Given the description of an element on the screen output the (x, y) to click on. 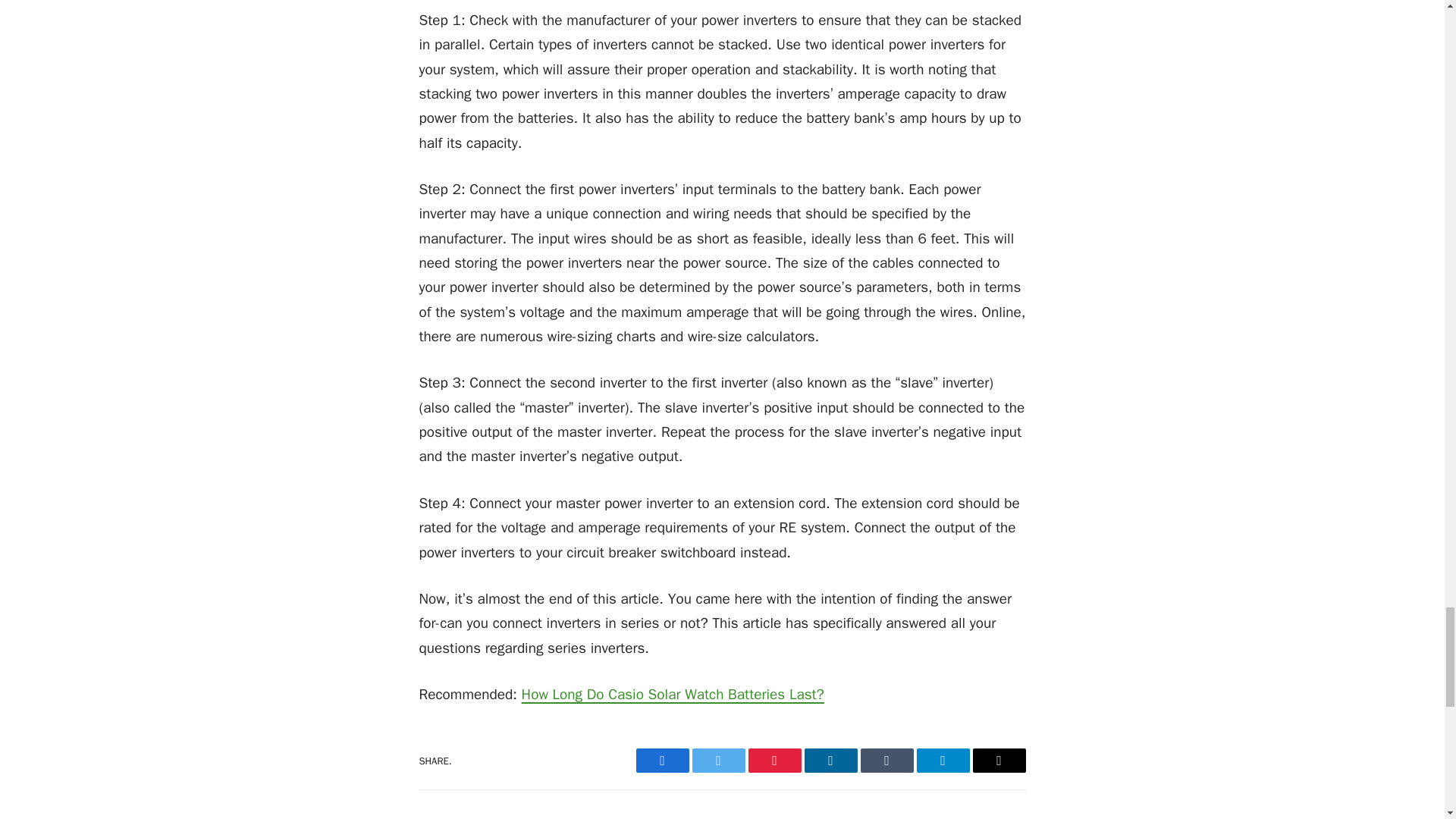
Share on Tumblr (886, 760)
Twitter (717, 760)
How Long Do Casio Solar Watch Batteries Last? (672, 694)
Facebook (661, 760)
Pinterest (774, 760)
Posts by Olivia Bolt (537, 817)
Share on Pinterest (774, 760)
Share on LinkedIn (830, 760)
Share on Telegram (942, 760)
Share via Email (998, 760)
Share on Facebook (661, 760)
